Given the description of an element on the screen output the (x, y) to click on. 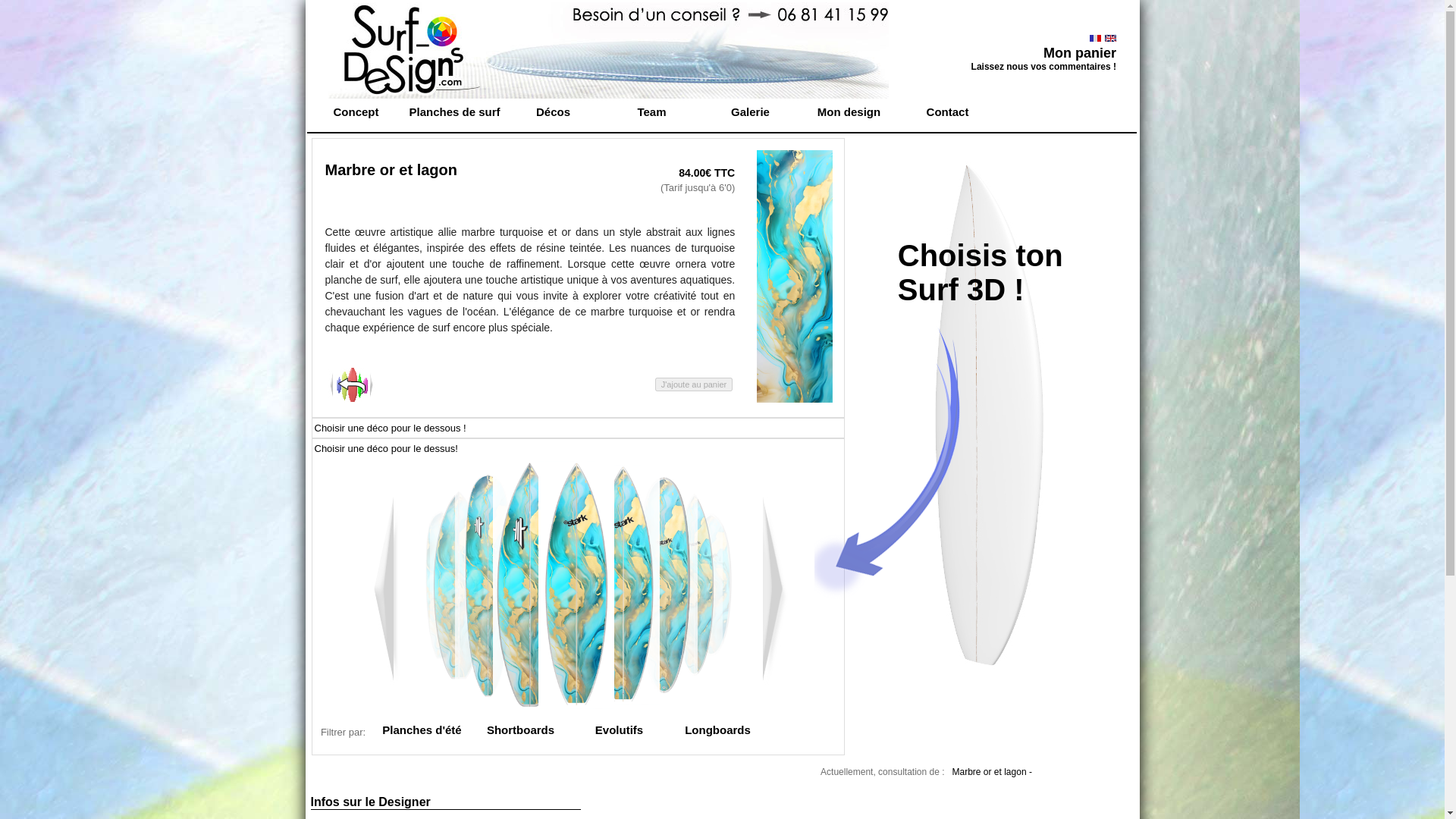
Laissez nous vos commentaires ! (1043, 64)
Mon panier (1079, 52)
Mon panier (1079, 52)
J'ajoute au panier (694, 384)
Laissez nous vos commentaires ! (1043, 64)
 Francais  (1094, 38)
Contact (946, 111)
Team (651, 111)
Mon design (848, 111)
Team (651, 111)
Pourquoi Surf Designs ? (354, 111)
J'ajoute au panier (694, 384)
Planches de surf (453, 111)
Galerie (749, 111)
Concept (354, 111)
